Given the description of an element on the screen output the (x, y) to click on. 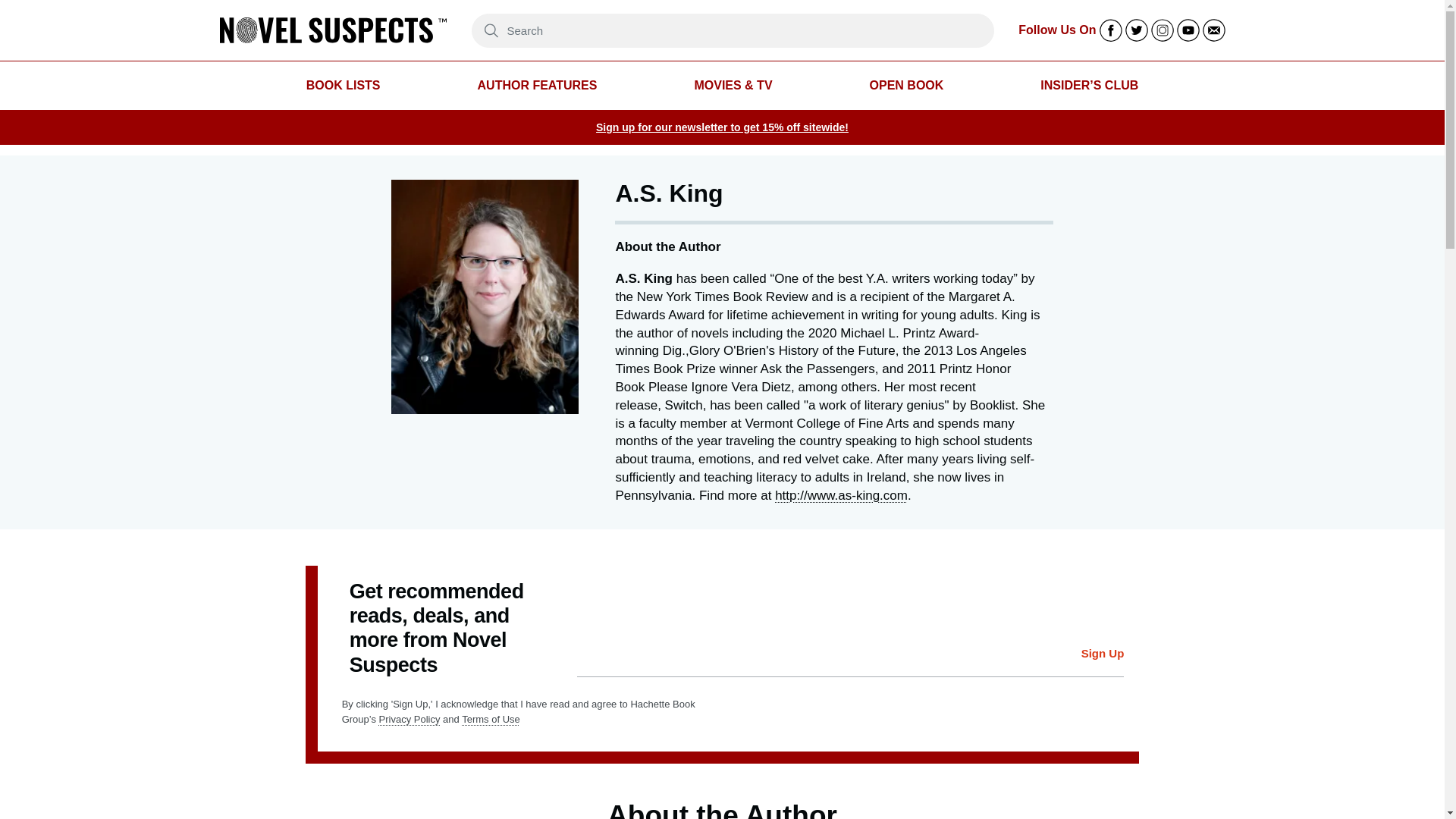
AUTHOR FEATURES (536, 85)
OPEN BOOK (906, 85)
Privacy Policy (409, 718)
BOOK LISTS (342, 85)
Go to Hachette Book Group home (332, 30)
Sign Up (1102, 653)
Terms of Use (490, 718)
